Given the description of an element on the screen output the (x, y) to click on. 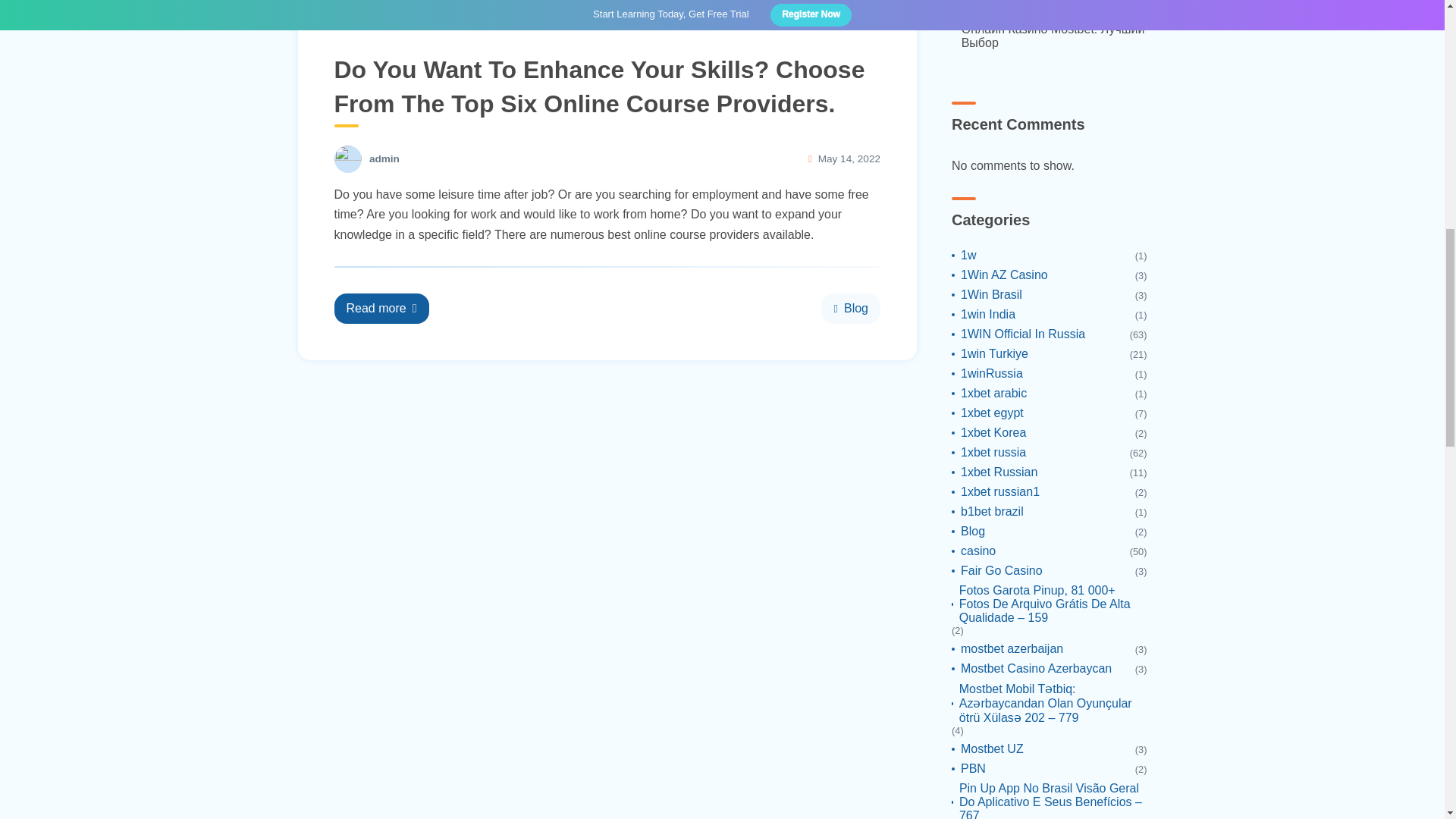
Blog (850, 308)
1w (963, 255)
admin (383, 158)
admin (383, 158)
Read more (380, 308)
May 14, 2022 (849, 158)
